Given the description of an element on the screen output the (x, y) to click on. 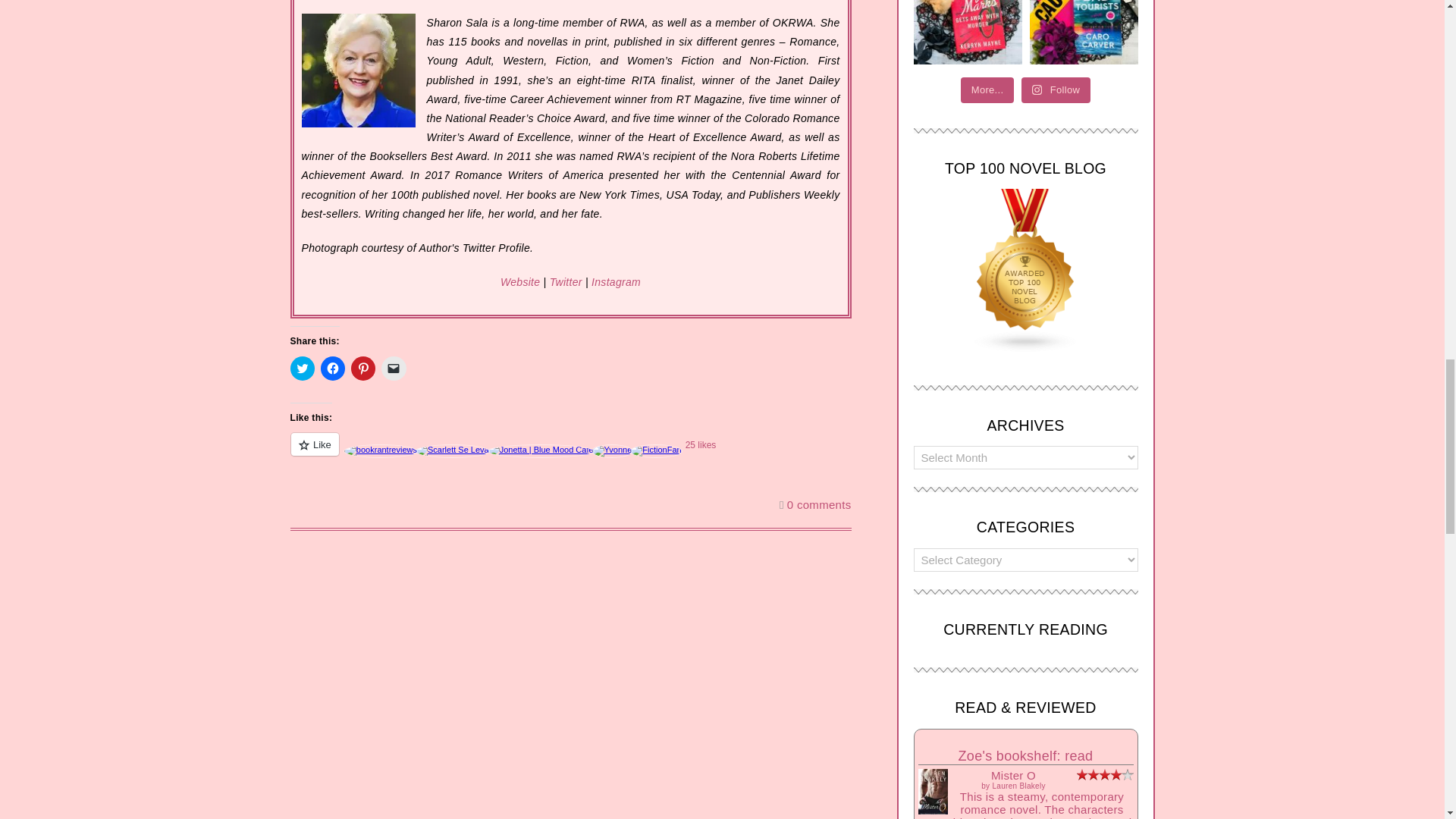
Click to share on Facebook (332, 368)
Click to share on Twitter (301, 368)
Mister O (932, 811)
Click to share on Pinterest (362, 368)
Click to email a link to a friend (393, 368)
Like or Reblog (569, 453)
